Given the description of an element on the screen output the (x, y) to click on. 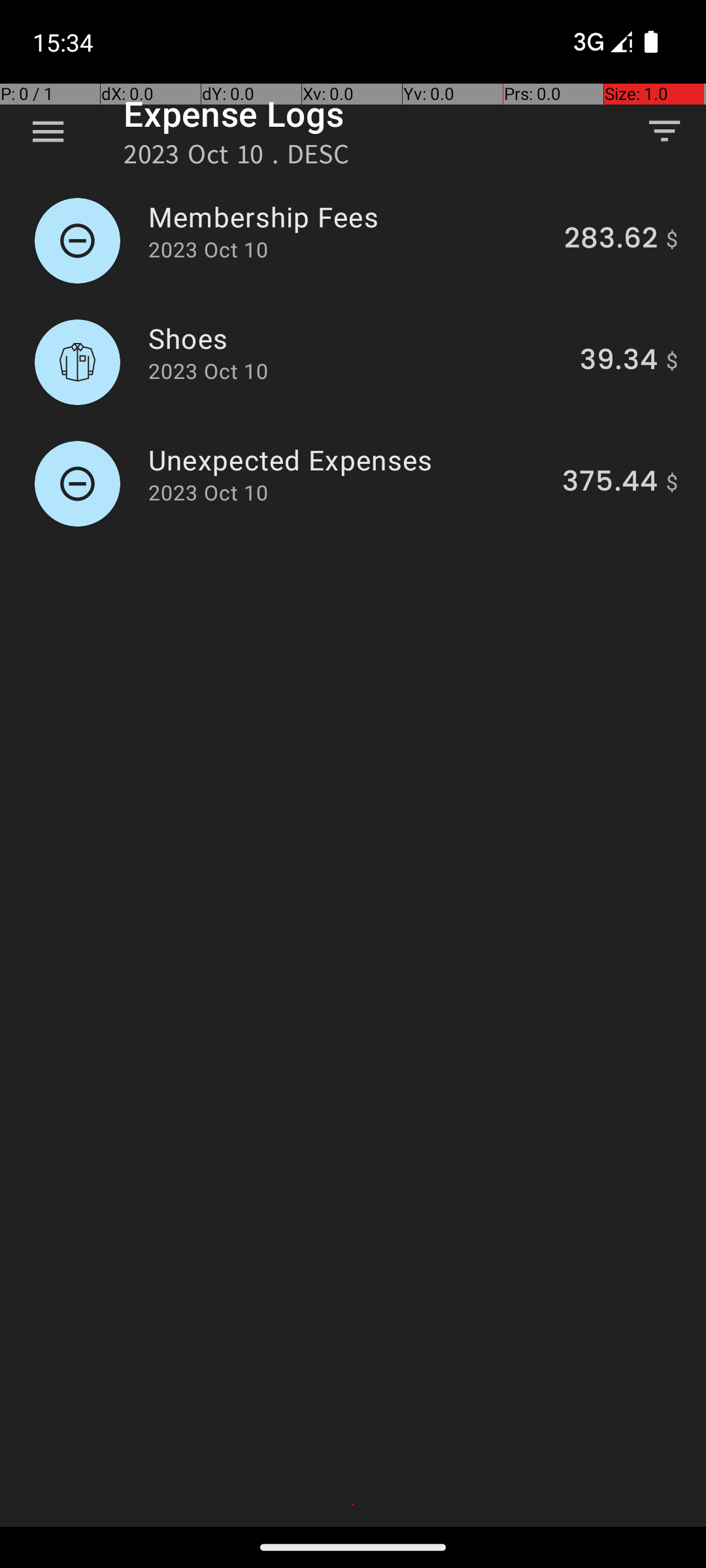
Expense Logs Element type: android.widget.TextView (233, 113)
2023 Oct 10 . DESC Element type: android.widget.TextView (236, 157)
Filter Element type: android.widget.TextView (664, 131)
Membership Fees Element type: android.widget.TextView (348, 216)
283.62 Element type: android.widget.TextView (610, 240)
$ Element type: android.widget.TextView (671, 240)
Shoes Element type: android.widget.TextView (356, 337)
39.34 Element type: android.widget.TextView (618, 362)
Unexpected Expenses Element type: android.widget.TextView (347, 459)
375.44 Element type: android.widget.TextView (609, 483)
